Given the description of an element on the screen output the (x, y) to click on. 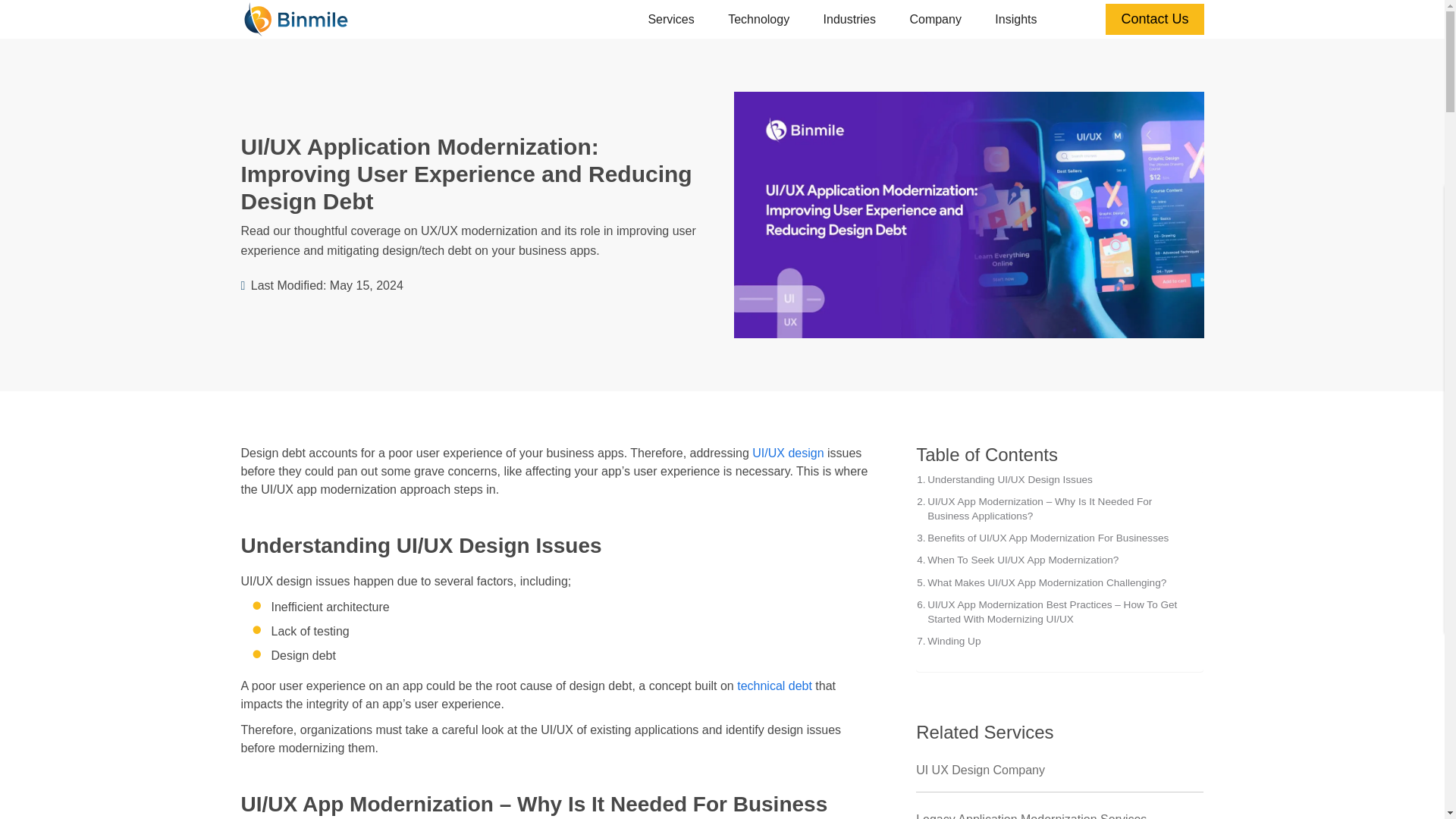
Binmile (295, 18)
Technology (759, 19)
Services (670, 19)
Winding Up (948, 640)
Contact Us (1154, 19)
